Given the description of an element on the screen output the (x, y) to click on. 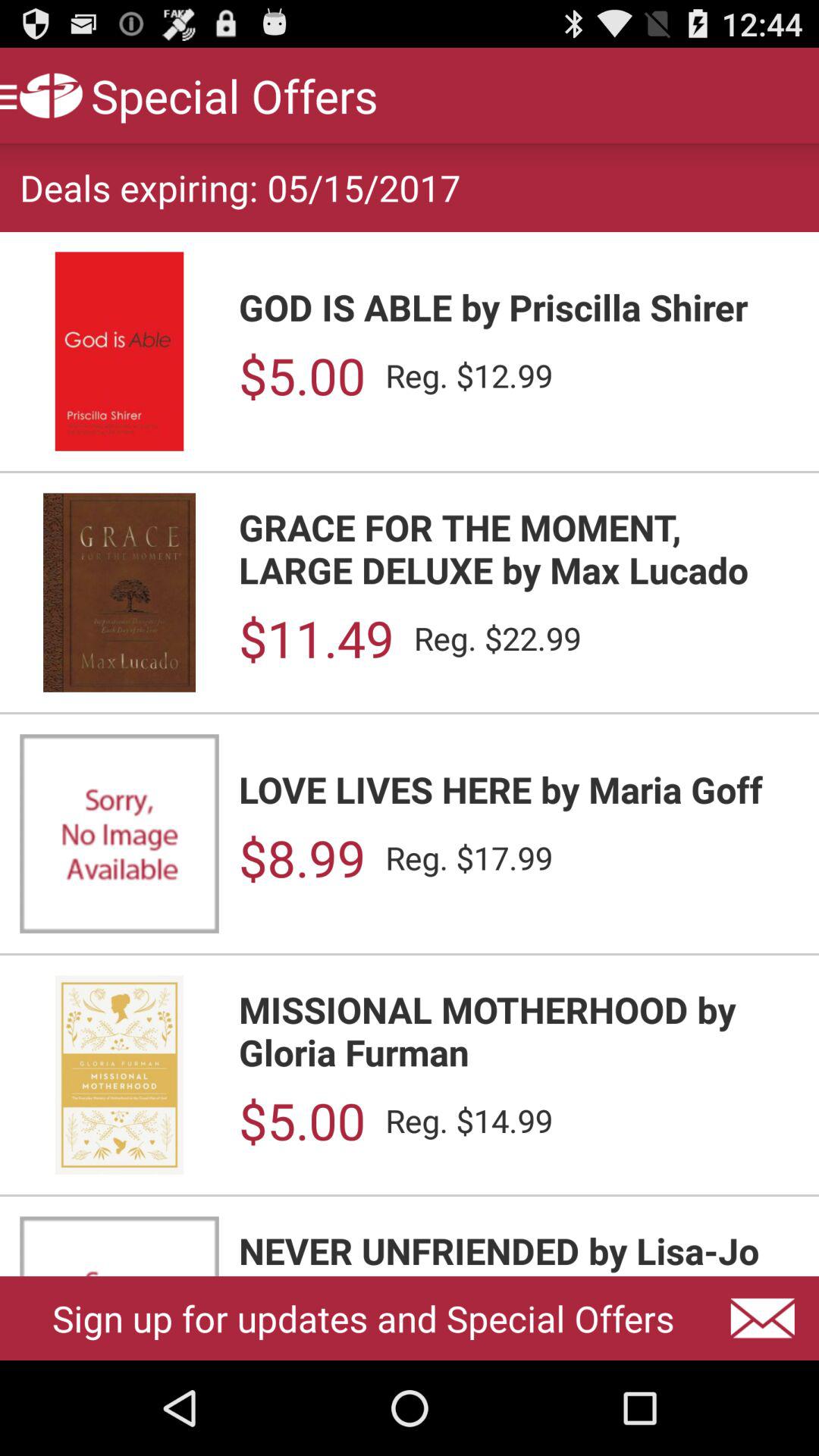
choose the god is able (518, 306)
